Given the description of an element on the screen output the (x, y) to click on. 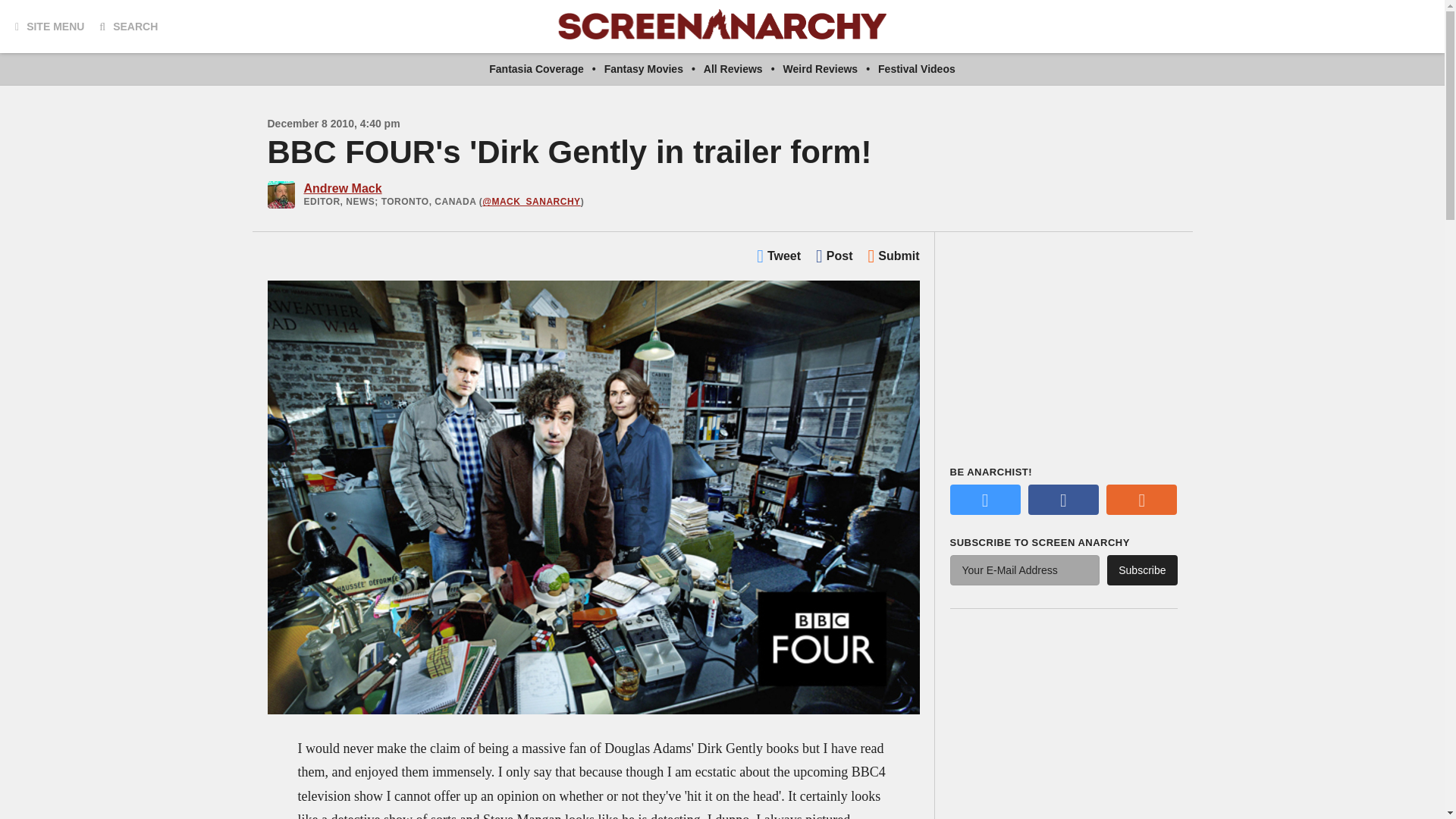
Subscribe (1141, 570)
SEARCH (128, 26)
Fantasia Coverage (536, 69)
SITE MENU (49, 26)
